Given the description of an element on the screen output the (x, y) to click on. 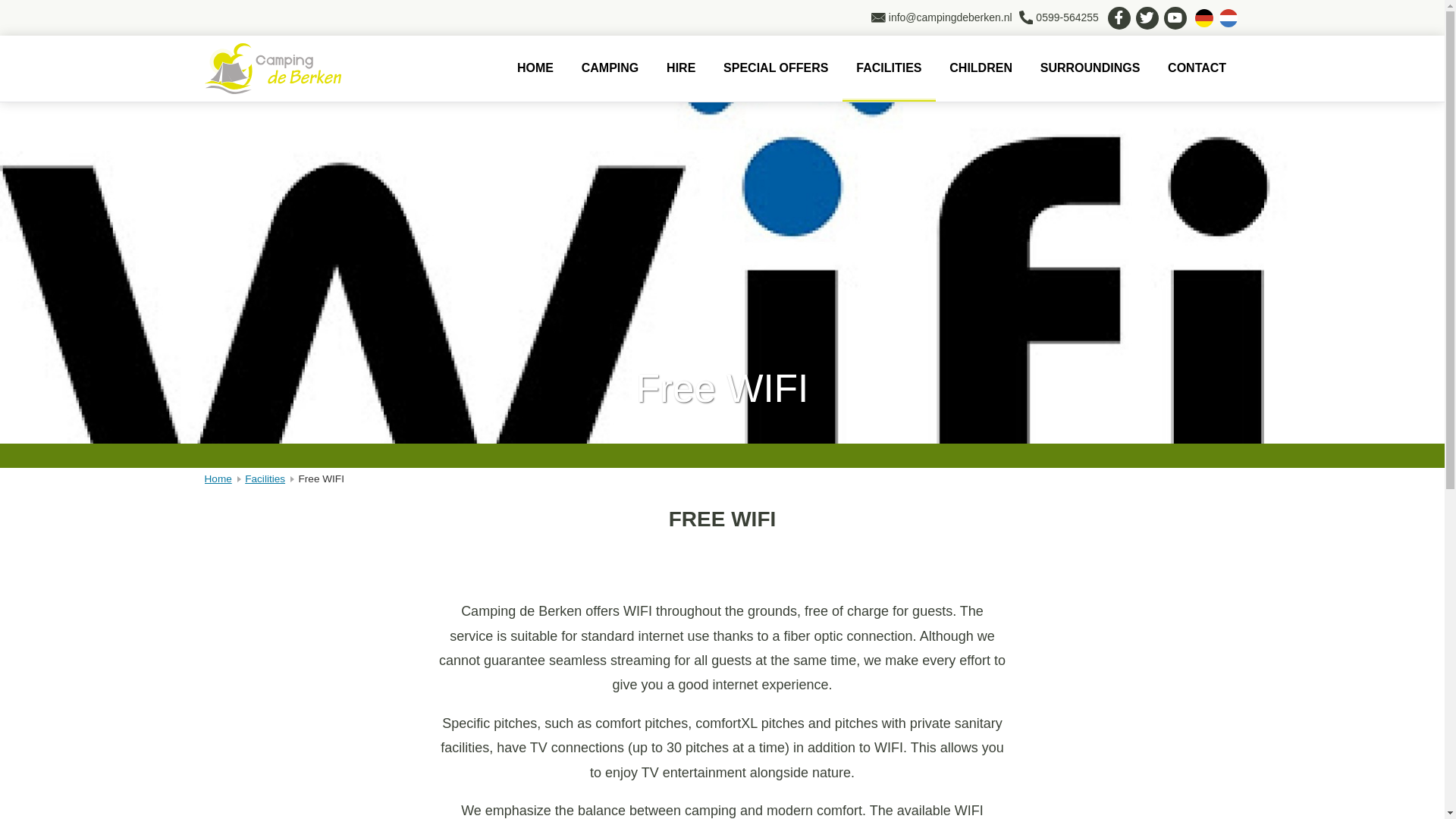
facebook (1117, 16)
HOME (535, 68)
CHILDREN (981, 68)
Mail us (941, 17)
YouTube (1174, 16)
CAMPING (609, 68)
Call us (1058, 17)
0599-564255 (1058, 17)
Twitter (1146, 16)
FACILITIES (889, 68)
